Given the description of an element on the screen output the (x, y) to click on. 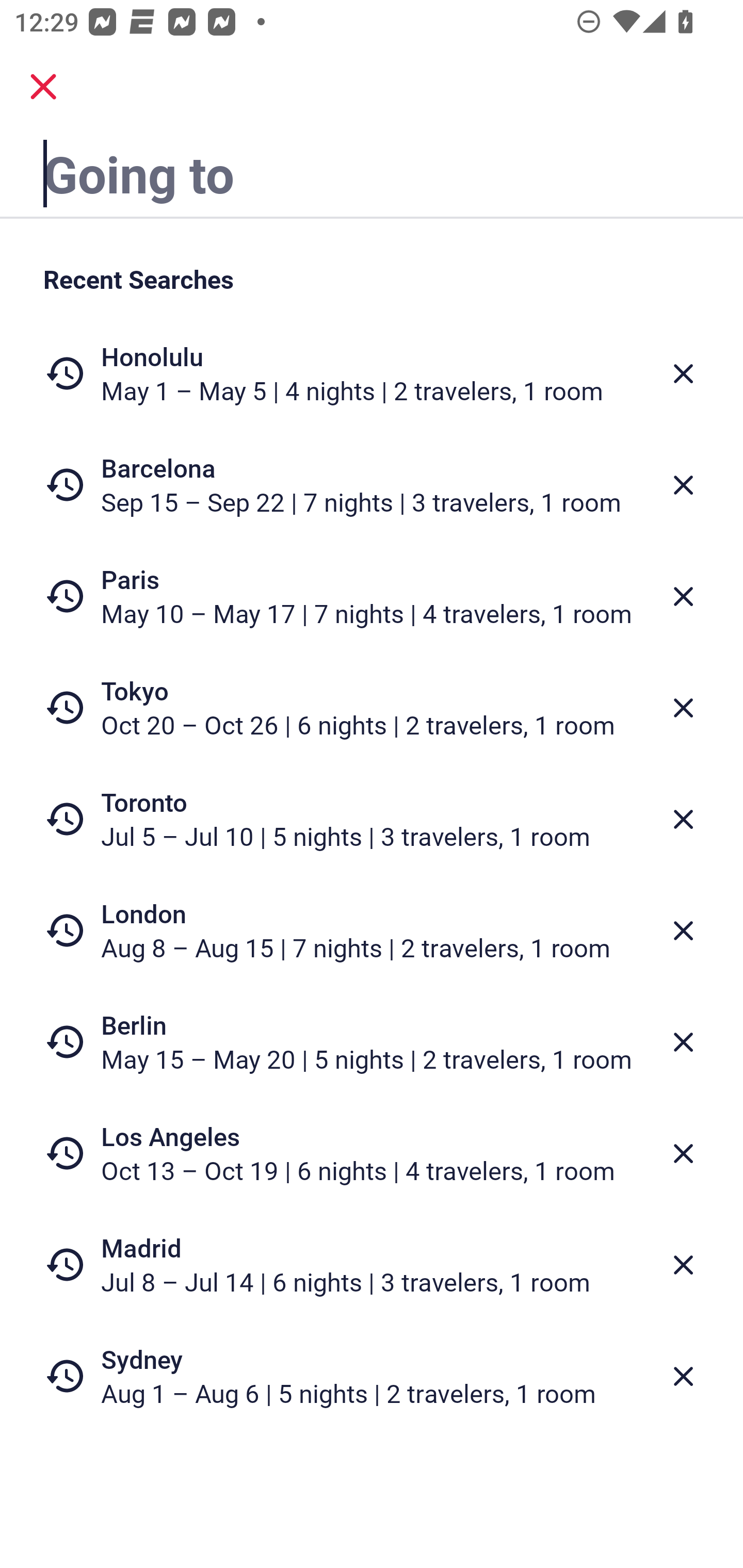
close. (43, 86)
Delete from recent searches (683, 373)
Delete from recent searches (683, 485)
Delete from recent searches (683, 596)
Delete from recent searches (683, 707)
Delete from recent searches (683, 819)
Delete from recent searches (683, 930)
Delete from recent searches (683, 1041)
Delete from recent searches (683, 1153)
Delete from recent searches (683, 1265)
Delete from recent searches (683, 1376)
